Given the description of an element on the screen output the (x, y) to click on. 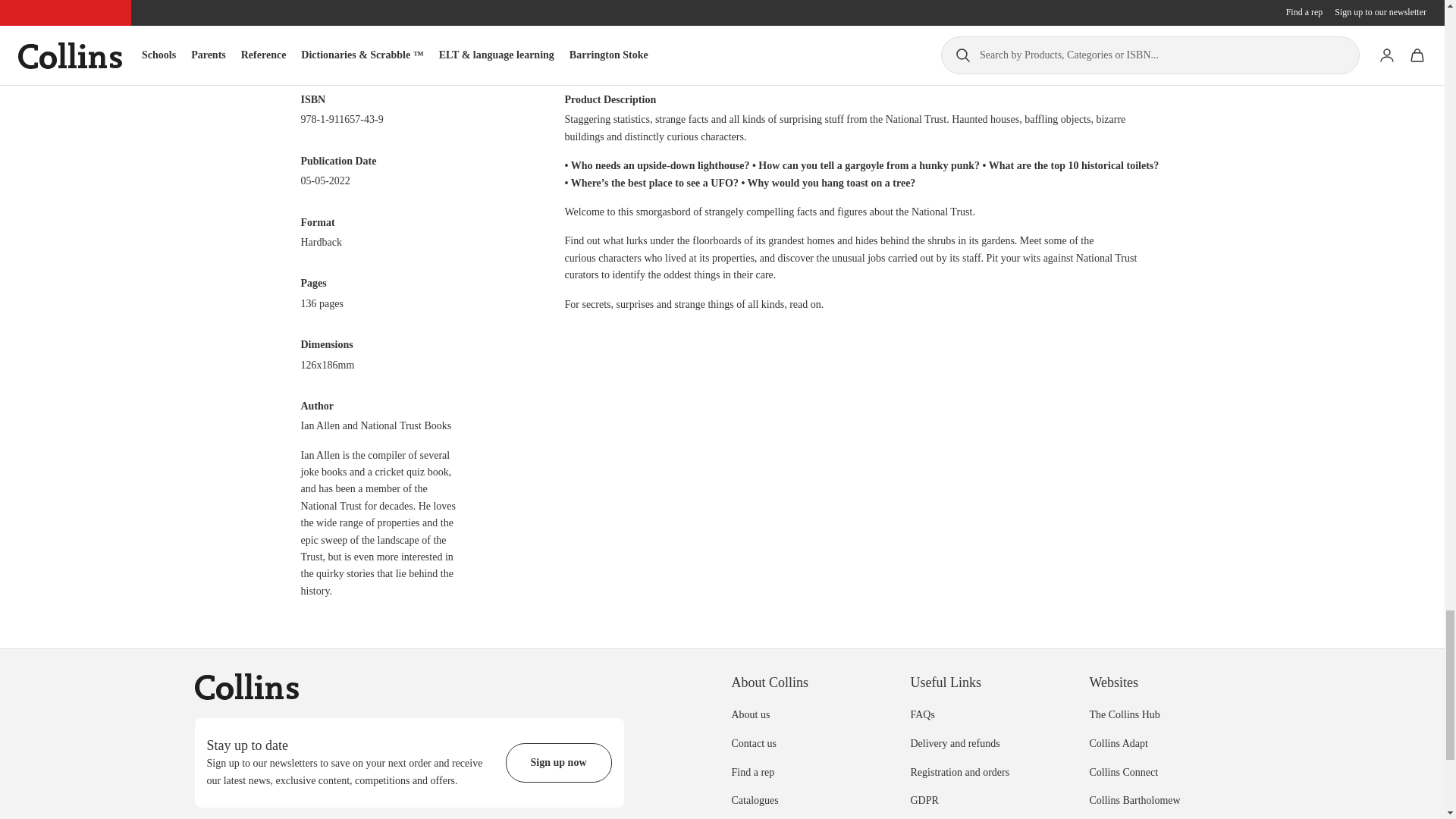
GDPR (923, 799)
FAQs (922, 714)
Delivery and refunds (954, 743)
Sign up now (558, 762)
About us (750, 714)
Contact us (753, 743)
Catalogues (753, 799)
Find a rep (752, 772)
Registration and orders (959, 772)
